Given the description of an element on the screen output the (x, y) to click on. 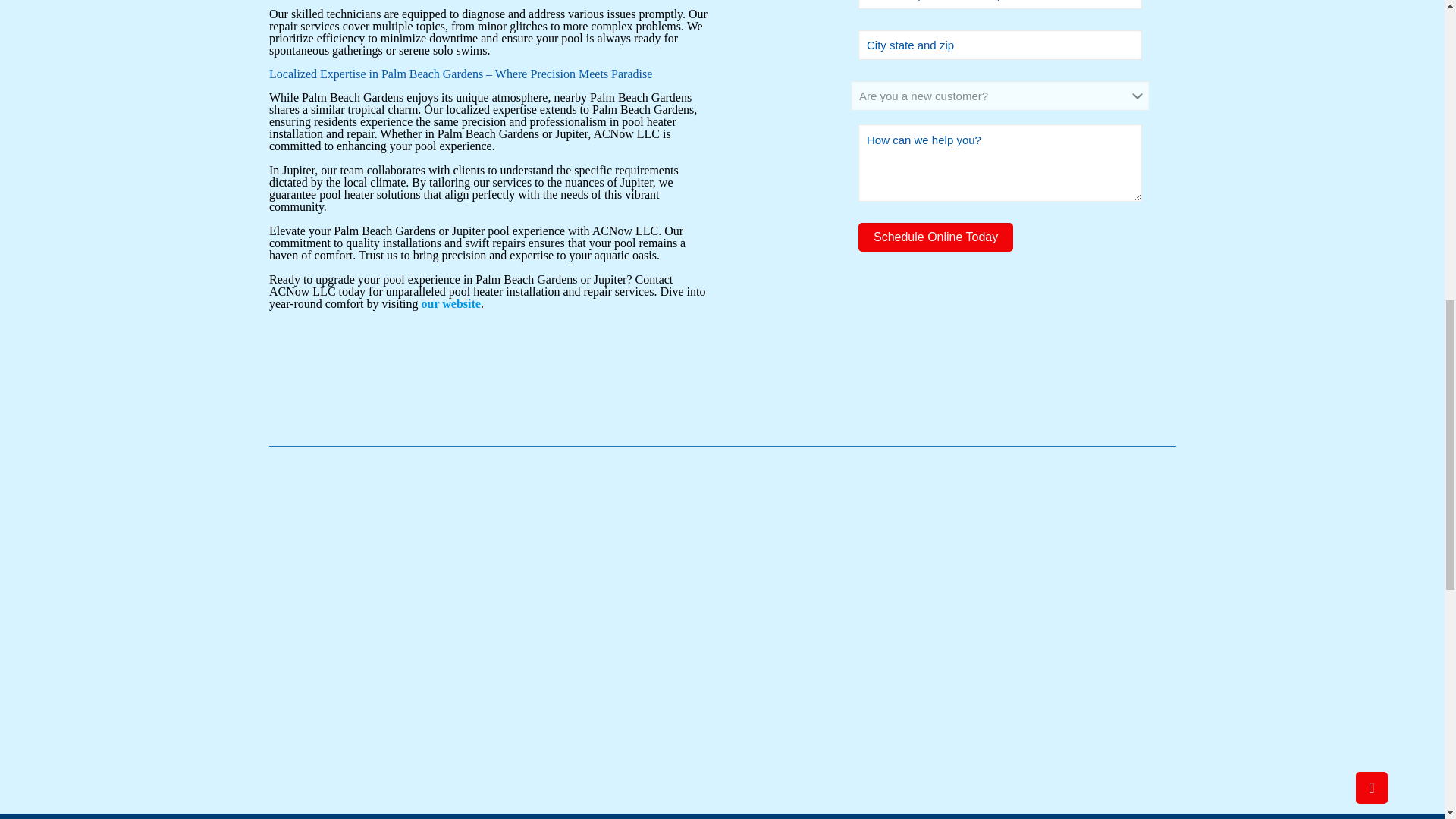
our website (450, 303)
Schedule Online Today (936, 236)
Schedule Online Today (936, 236)
